Given the description of an element on the screen output the (x, y) to click on. 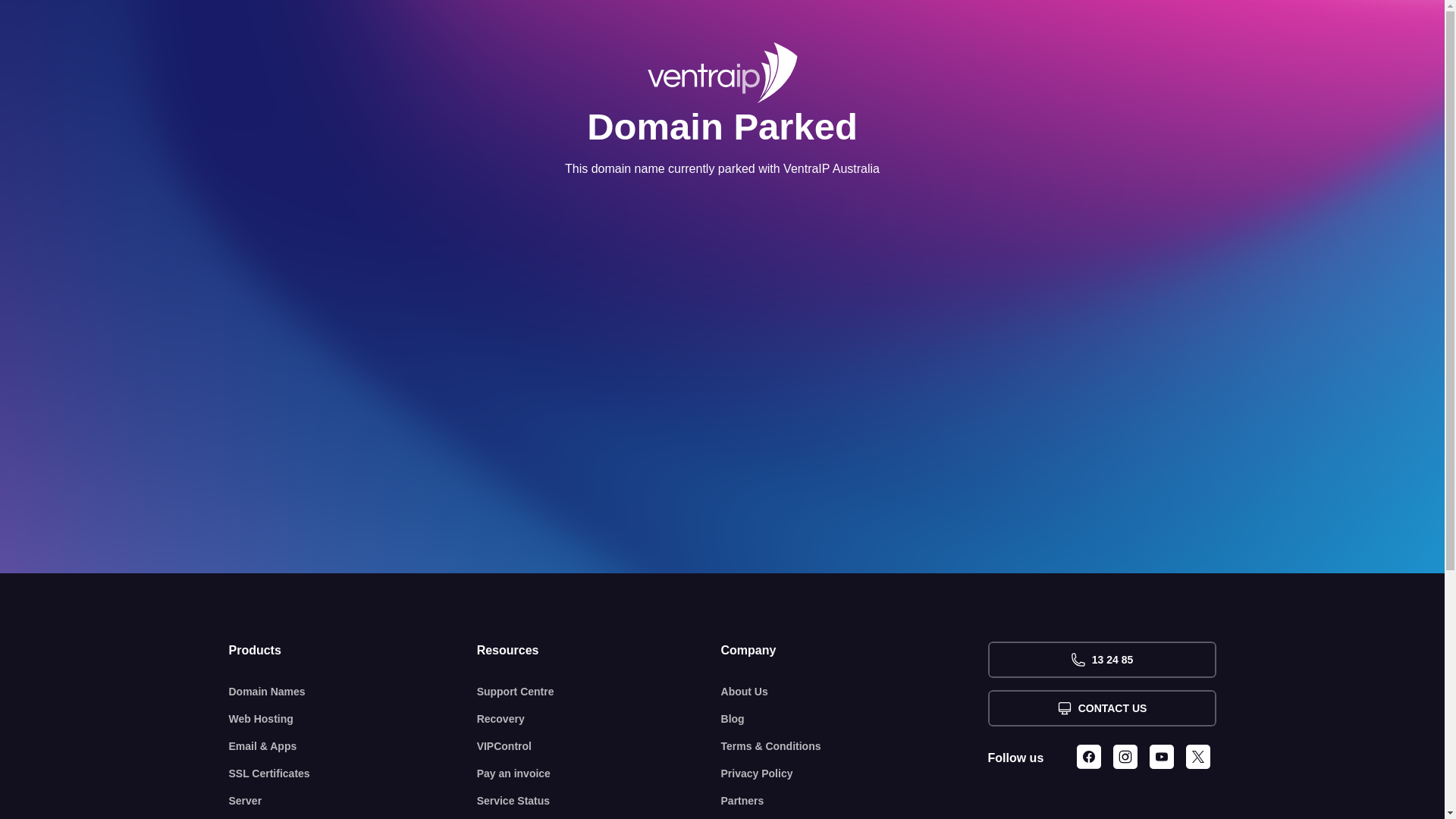
Service Status Element type: text (598, 800)
Terms & Conditions Element type: text (854, 745)
Email & Apps Element type: text (352, 745)
Server Element type: text (352, 800)
Partners Element type: text (854, 800)
13 24 85 Element type: text (1101, 659)
Support Centre Element type: text (598, 691)
Web Hosting Element type: text (352, 718)
SSL Certificates Element type: text (352, 773)
CONTACT US Element type: text (1101, 708)
Pay an invoice Element type: text (598, 773)
Recovery Element type: text (598, 718)
Domain Names Element type: text (352, 691)
Blog Element type: text (854, 718)
About Us Element type: text (854, 691)
Privacy Policy Element type: text (854, 773)
VIPControl Element type: text (598, 745)
